Given the description of an element on the screen output the (x, y) to click on. 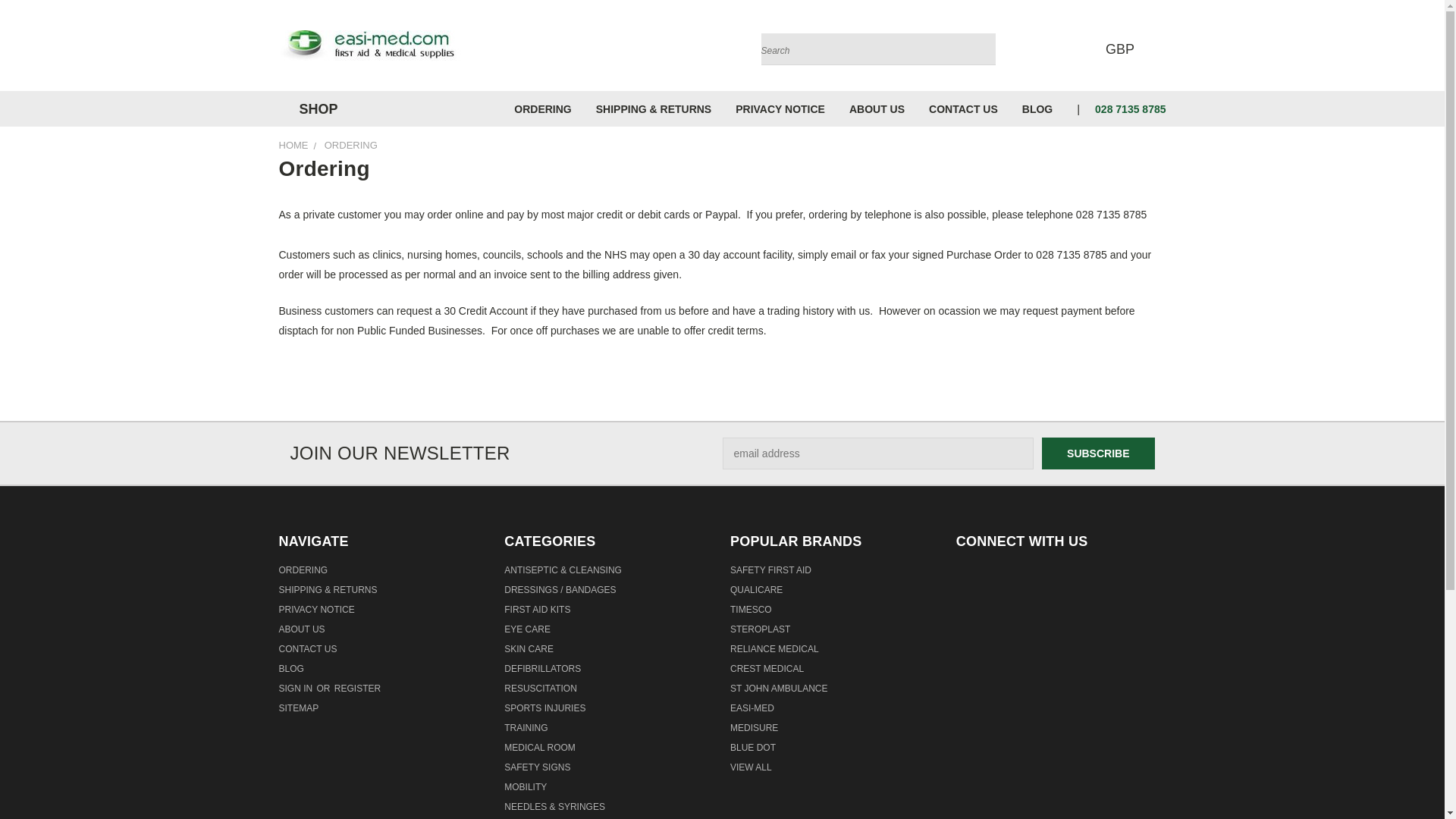
submit (980, 48)
GBP (1123, 49)
Subscribe (1098, 453)
SHOP (314, 109)
